Given the description of an element on the screen output the (x, y) to click on. 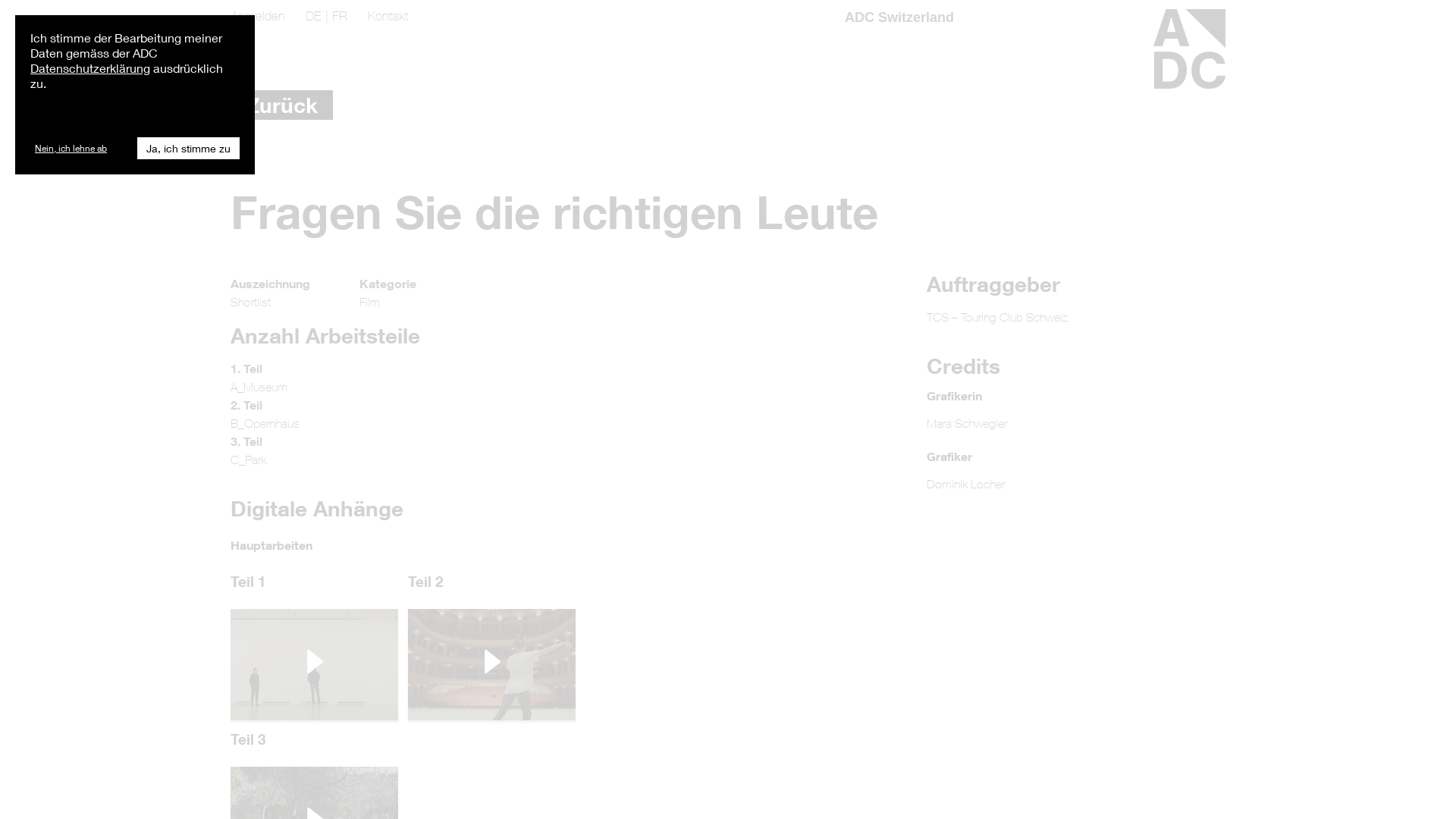
Nein, ich lehne ab Element type: text (70, 148)
Anmelden Element type: text (259, 15)
Ja, ich stimme zu Element type: text (188, 148)
FR Element type: text (339, 15)
Kontakt Element type: text (387, 15)
DE Element type: text (313, 15)
